Given the description of an element on the screen output the (x, y) to click on. 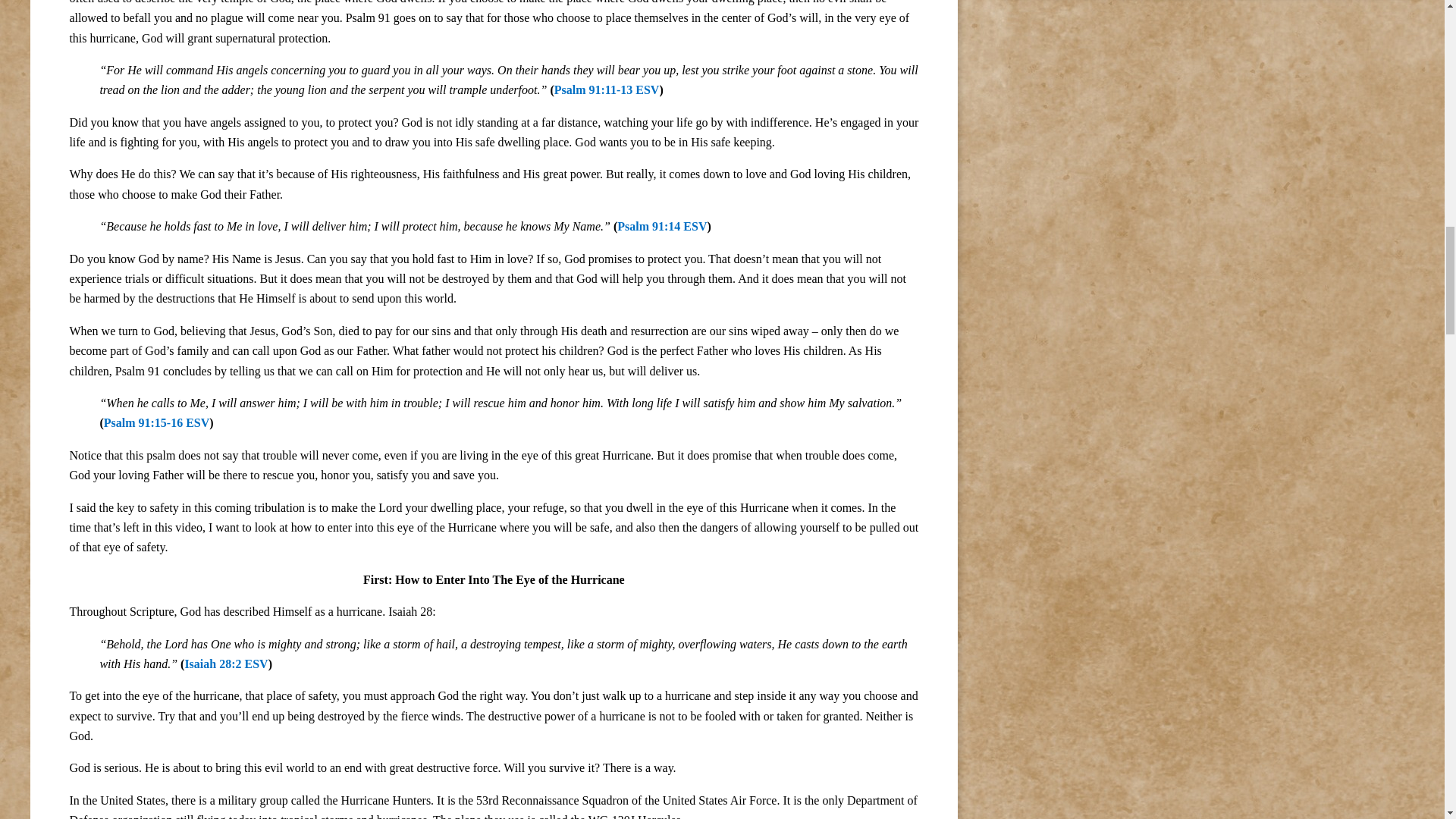
Psalm 91:15-16 ESV (156, 422)
Psalm 91:11-13 ESV (606, 89)
Psalm 91:14 ESV (661, 226)
Isaiah 28:2 ESV (225, 663)
